Given the description of an element on the screen output the (x, y) to click on. 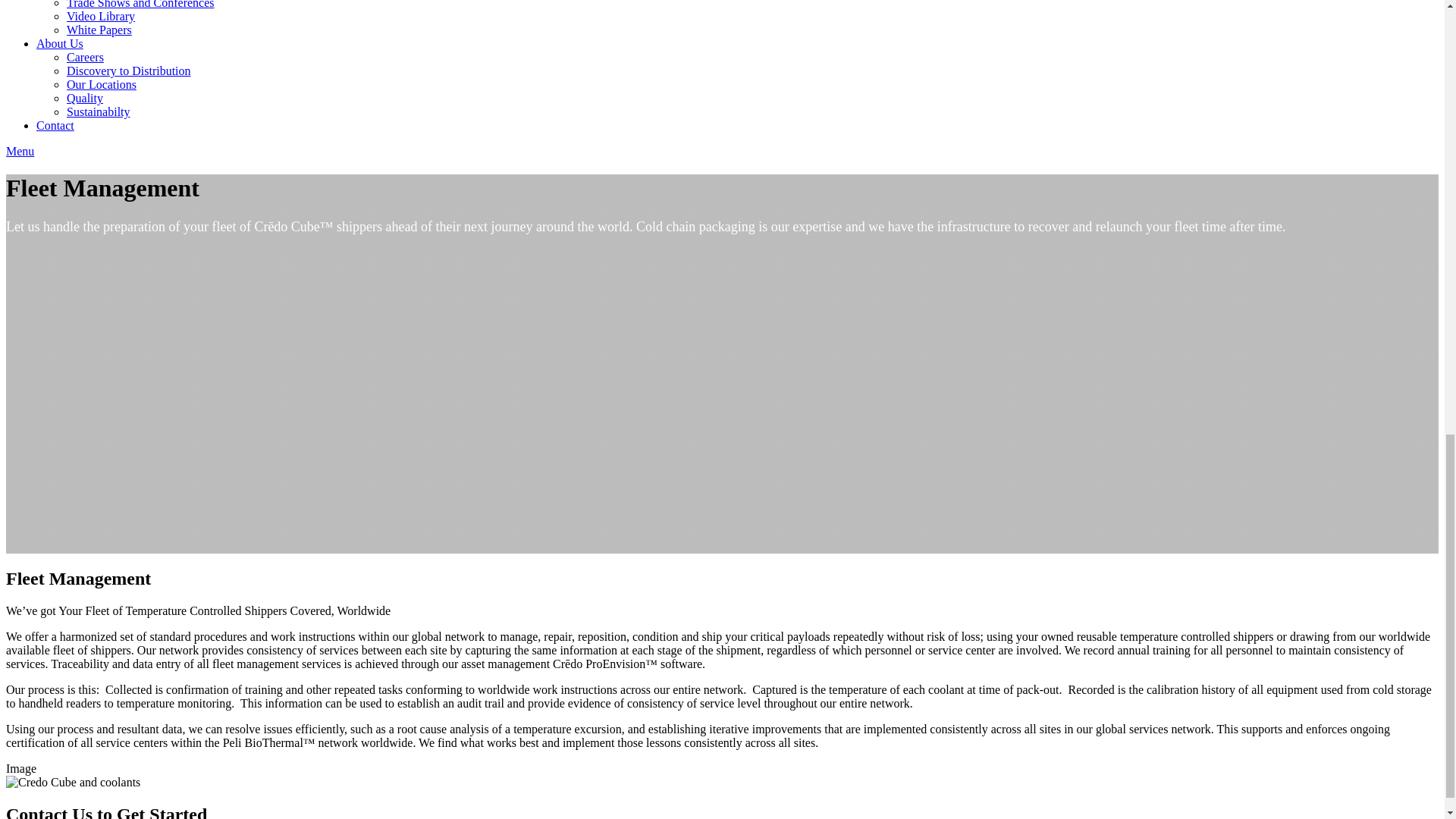
Menu (19, 151)
